Given the description of an element on the screen output the (x, y) to click on. 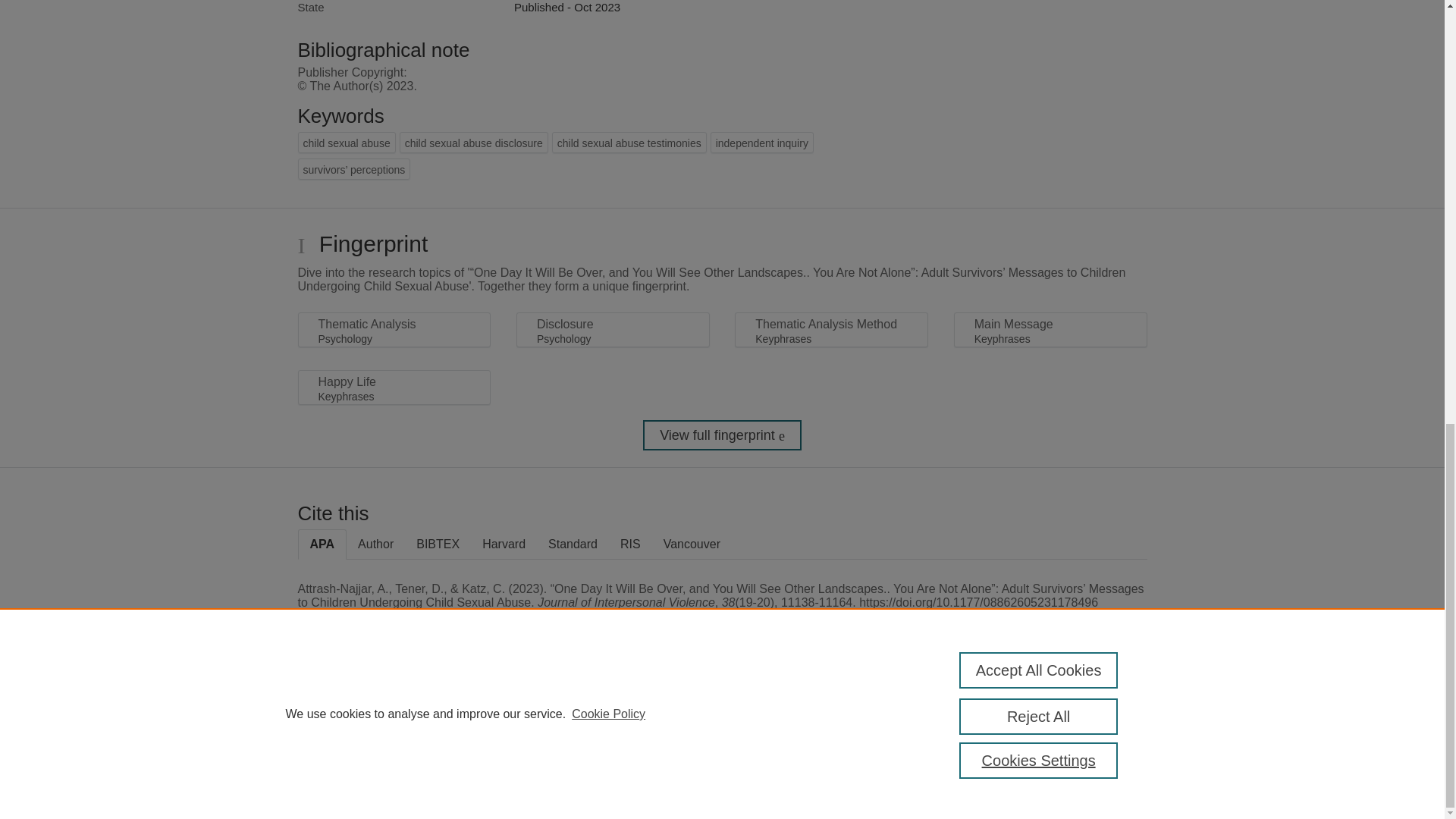
Cookies Settings (334, 781)
Report vulnerability (1088, 745)
Elsevier B.V. (506, 728)
View full fingerprint (722, 435)
use of cookies (796, 760)
Scopus (394, 708)
About web accessibility (1088, 713)
Pure (362, 708)
